Given the description of an element on the screen output the (x, y) to click on. 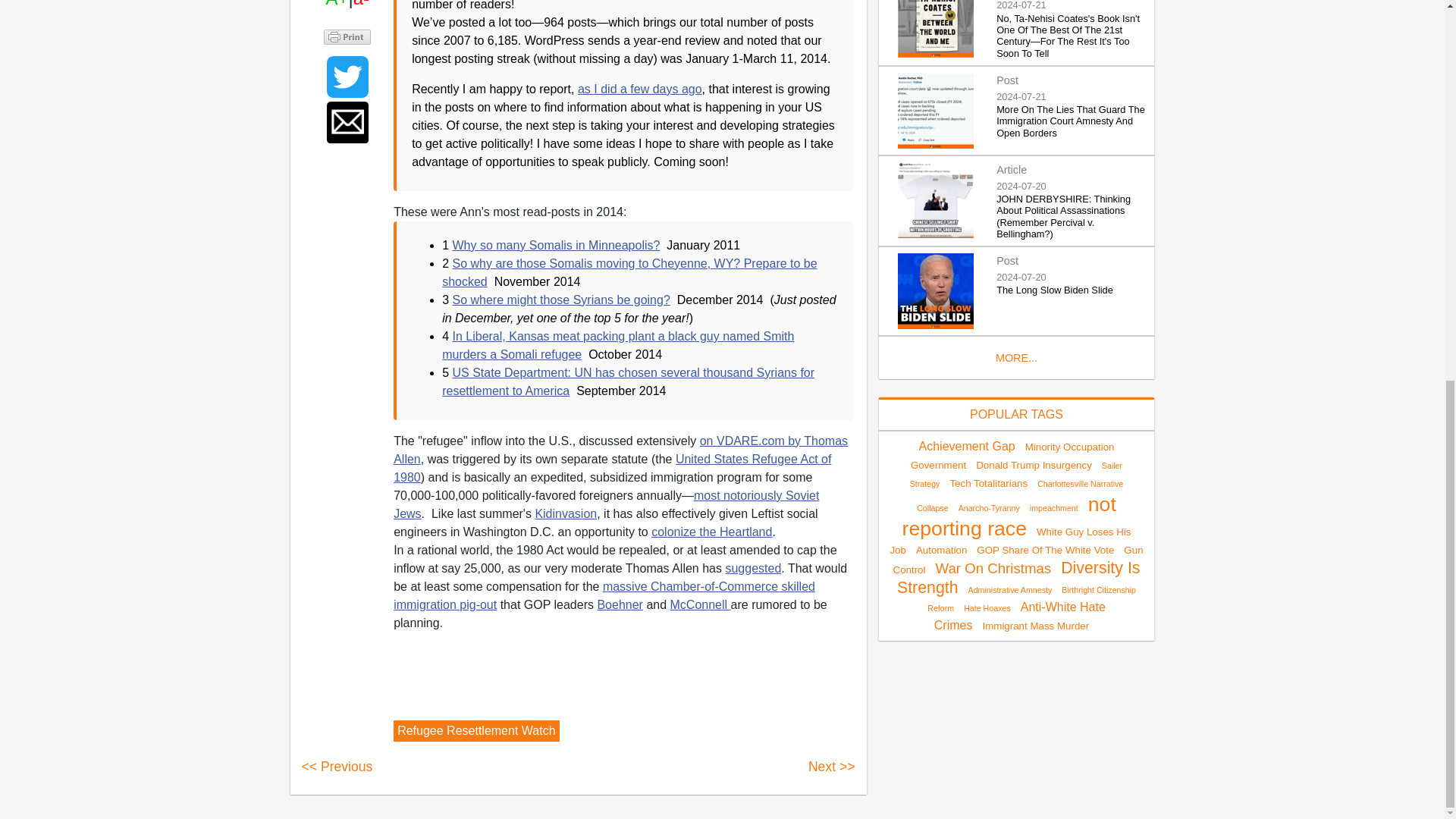
Printer Friendly and PDF (347, 36)
Share to Email (347, 122)
Share to Twitter (347, 76)
